Given the description of an element on the screen output the (x, y) to click on. 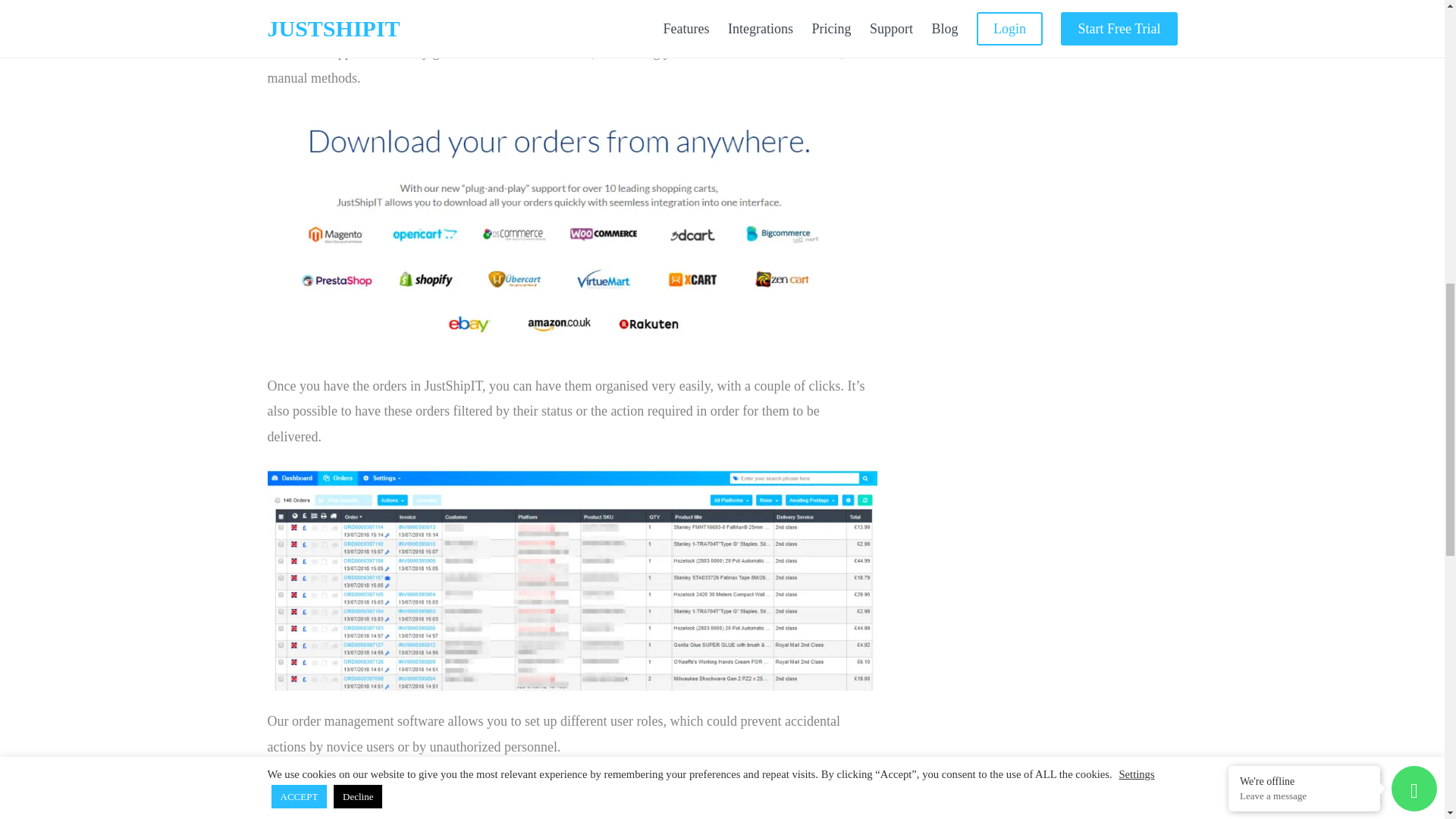
eBay (842, 4)
Amazon (289, 27)
